Given the description of an element on the screen output the (x, y) to click on. 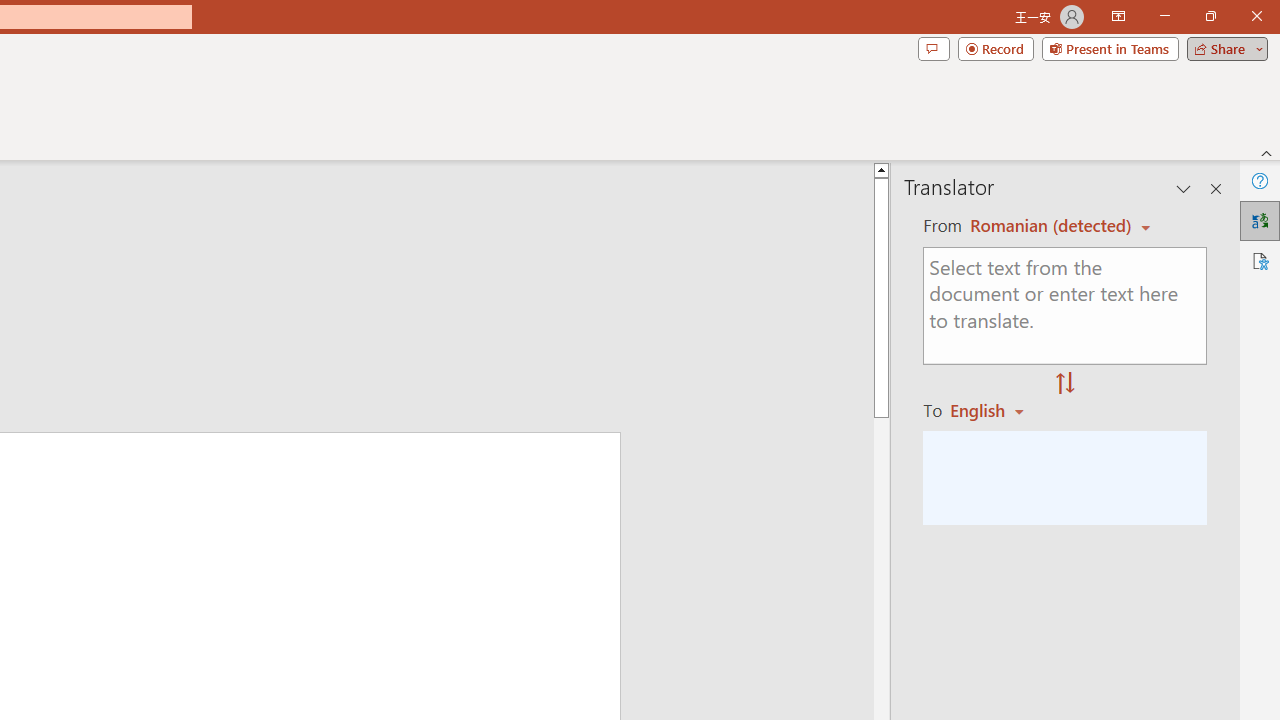
Task Pane Options (1183, 188)
Translator (1260, 220)
Collapse the Ribbon (1267, 152)
Present in Teams (1109, 48)
Minimize (1164, 16)
Restore Down (1210, 16)
Share (1223, 48)
Romanian (994, 409)
Comments (933, 48)
Ribbon Display Options (1118, 16)
Record (995, 48)
Swap "from" and "to" languages. (1065, 383)
